Given the description of an element on the screen output the (x, y) to click on. 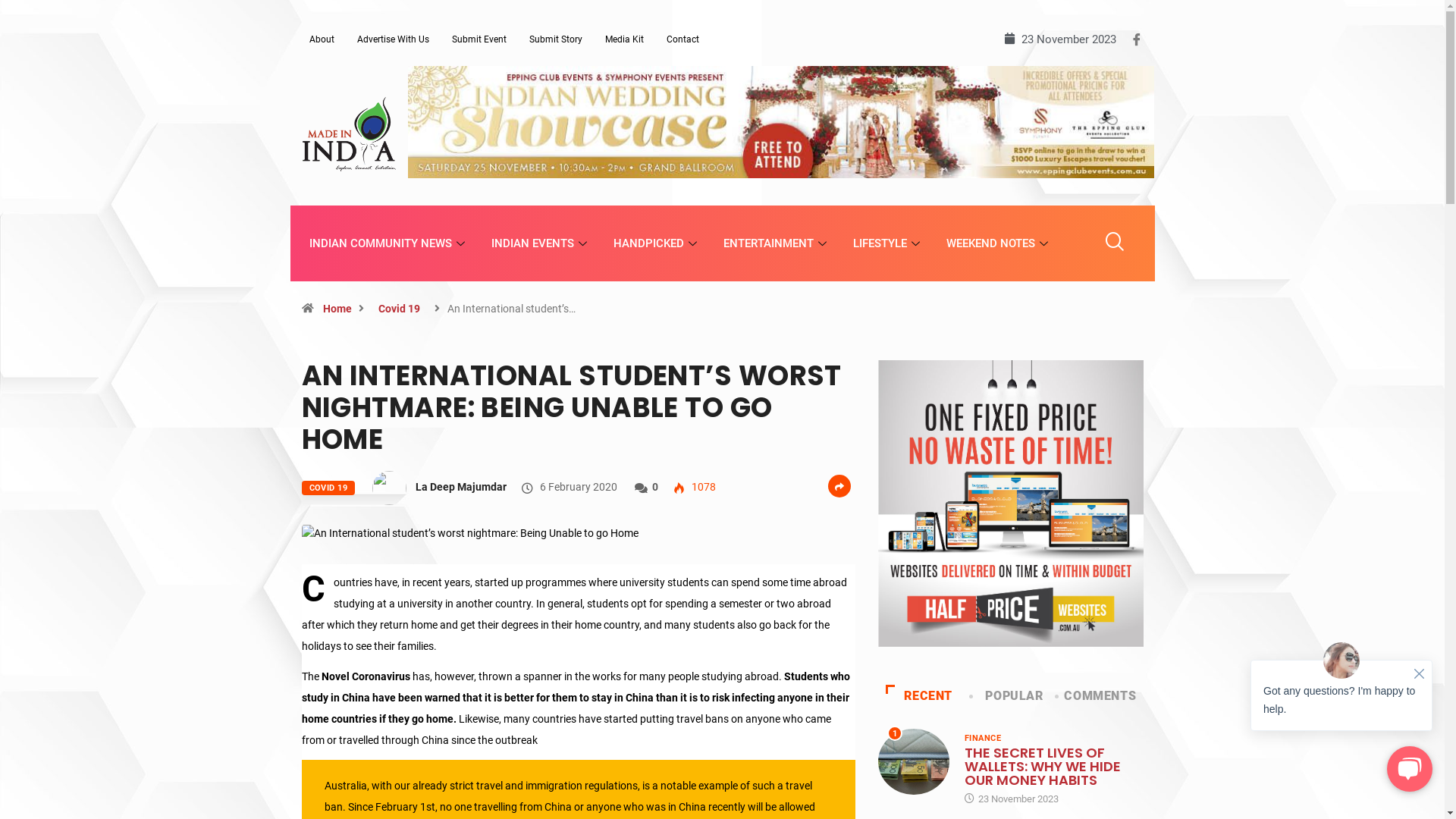
COMMENTS Element type: text (1099, 695)
Contact Element type: text (682, 39)
La Deep Majumdar Element type: text (460, 486)
THE SECRET LIVES OF WALLETS: WHY WE HIDE OUR MONEY HABITS Element type: text (1042, 766)
Submit Event Element type: text (478, 39)
ENTERTAINMENT Element type: text (775, 243)
Advertise With Us Element type: text (392, 39)
INDIAN EVENTS Element type: text (540, 243)
Covid 19 Element type: text (398, 308)
0 Element type: text (655, 486)
1 Element type: text (914, 761)
RECENT Element type: text (928, 695)
COVID 19 Element type: text (328, 487)
Media Kit Element type: text (623, 39)
HANDPICKED Element type: text (657, 243)
POPULAR Element type: text (1014, 695)
WEEKEND NOTES Element type: text (998, 243)
About Element type: text (321, 39)
Home Element type: text (336, 308)
INDIAN COMMUNITY NEWS Element type: text (388, 243)
Submit Story Element type: text (555, 39)
FINANCE Element type: text (982, 738)
LIFESTYLE Element type: text (888, 243)
